Given the description of an element on the screen output the (x, y) to click on. 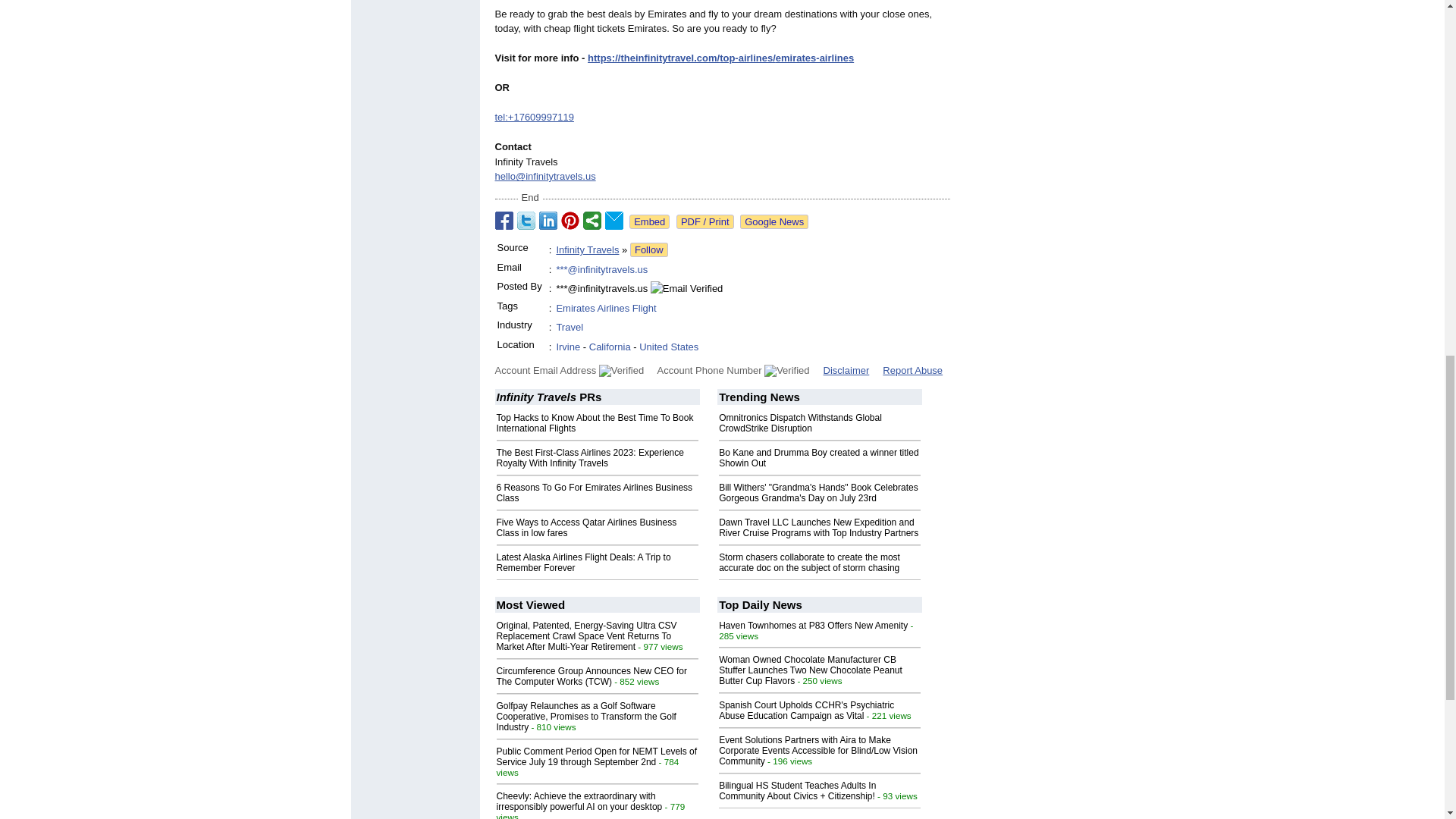
Share on StumbleUpon, Digg, etc (590, 220)
Verified (620, 370)
Share on Facebook (503, 220)
Email Verified (686, 288)
Embed this press release in your website! (648, 221)
Share on Pinterest (569, 220)
Share on LinkedIn (547, 220)
Verified (786, 370)
Embed (648, 221)
Email to a Friend (614, 220)
Share on Twitter (525, 220)
See or print the PDF version! (705, 221)
